Given the description of an element on the screen output the (x, y) to click on. 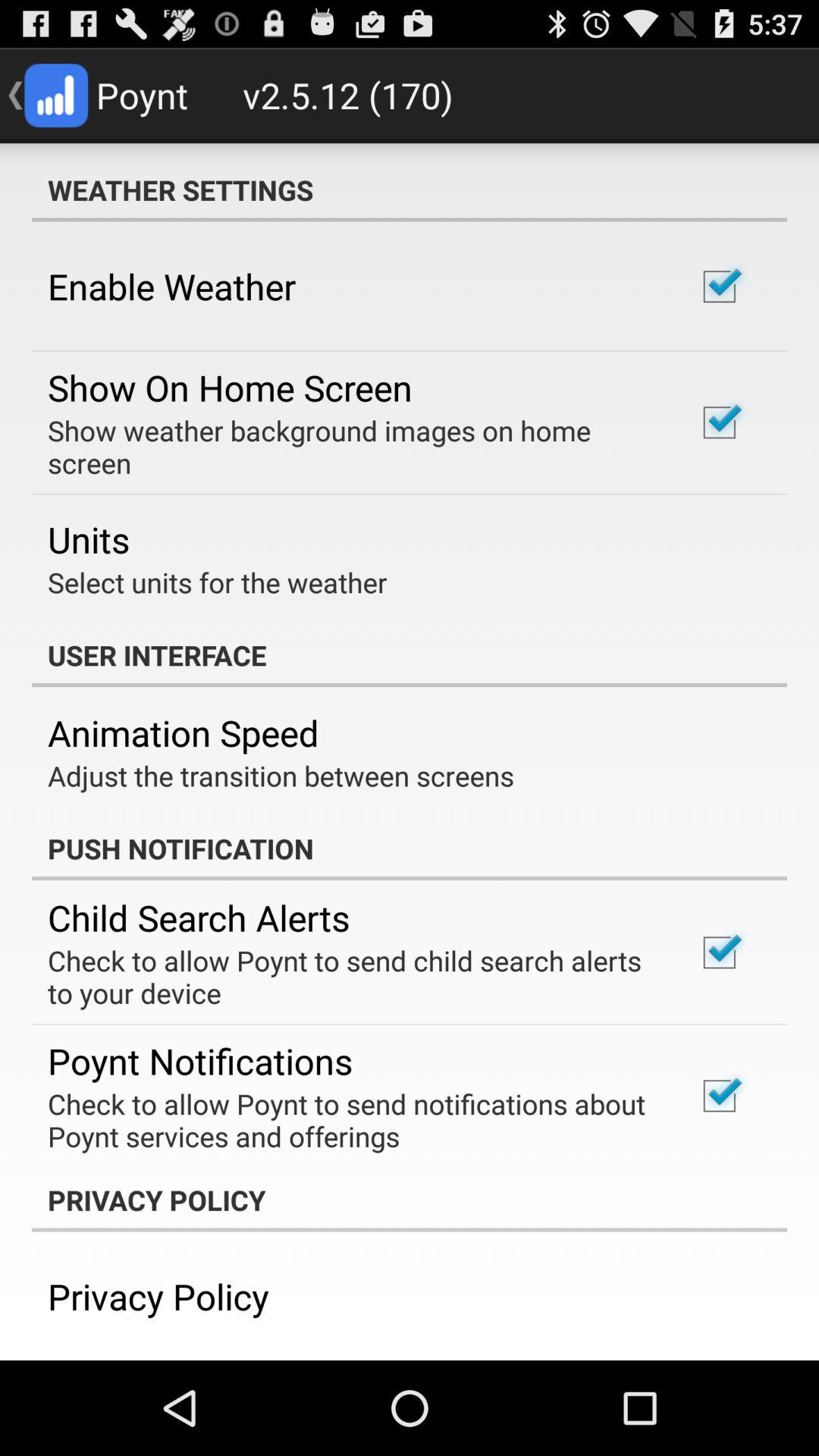
turn on item below the adjust the transition icon (409, 848)
